Given the description of an element on the screen output the (x, y) to click on. 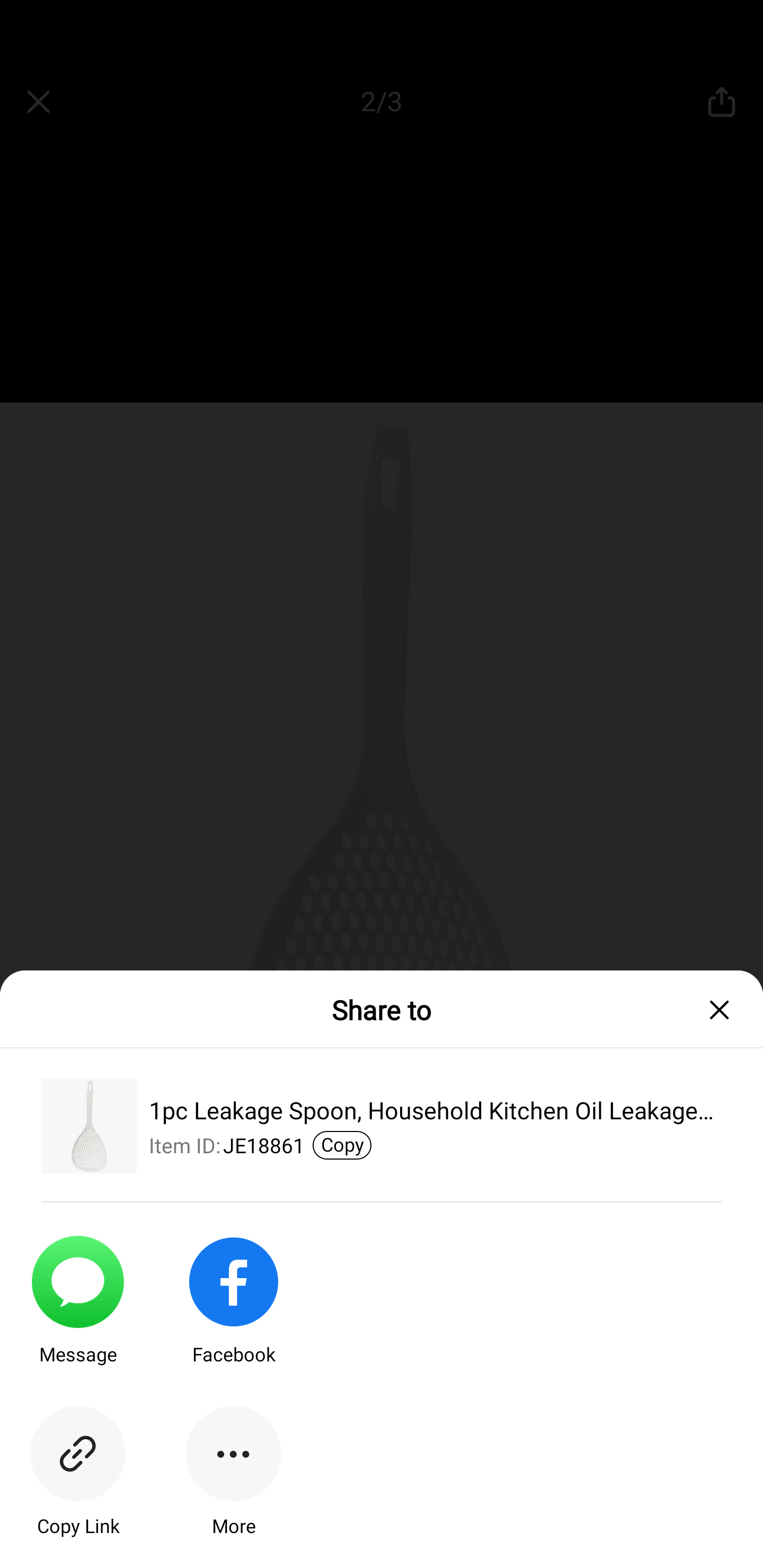
close (724, 1009)
Copy (341, 1145)
Message (77, 1315)
Facebook (233, 1315)
Copy Link (77, 1487)
More (233, 1487)
